Given the description of an element on the screen output the (x, y) to click on. 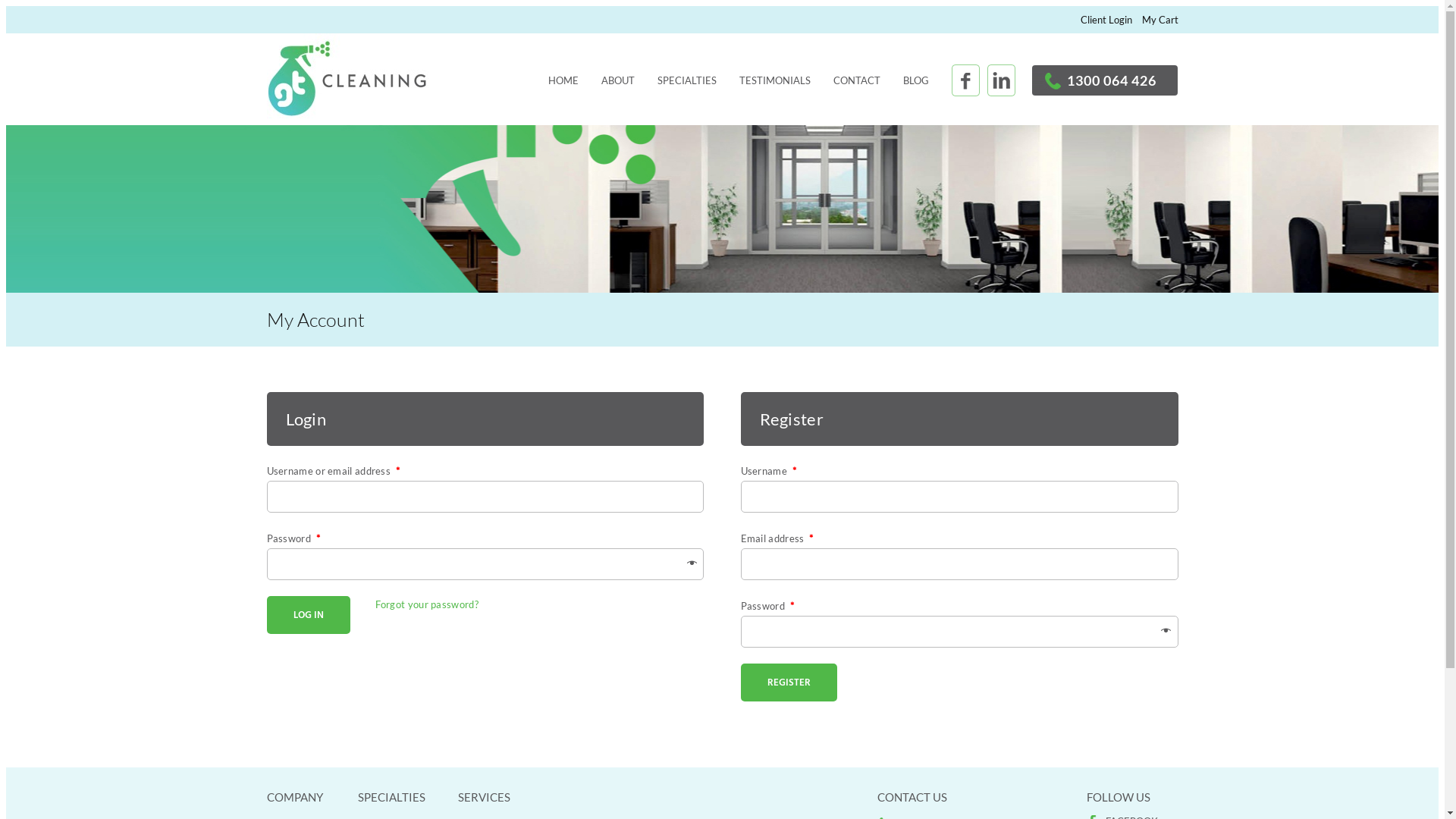
My Cart Element type: text (1160, 19)
CONTACT Element type: text (856, 77)
ABOUT Element type: text (617, 77)
HOME Element type: text (563, 77)
1300 064 426 Element type: text (1111, 80)
Log in Element type: text (308, 614)
Register Element type: text (788, 682)
Client Login Element type: text (1105, 19)
BLOG Element type: text (916, 77)
TESTIMONIALS Element type: text (774, 77)
SPECIALTIES Element type: text (686, 77)
Forgot your password? Element type: text (425, 604)
